Given the description of an element on the screen output the (x, y) to click on. 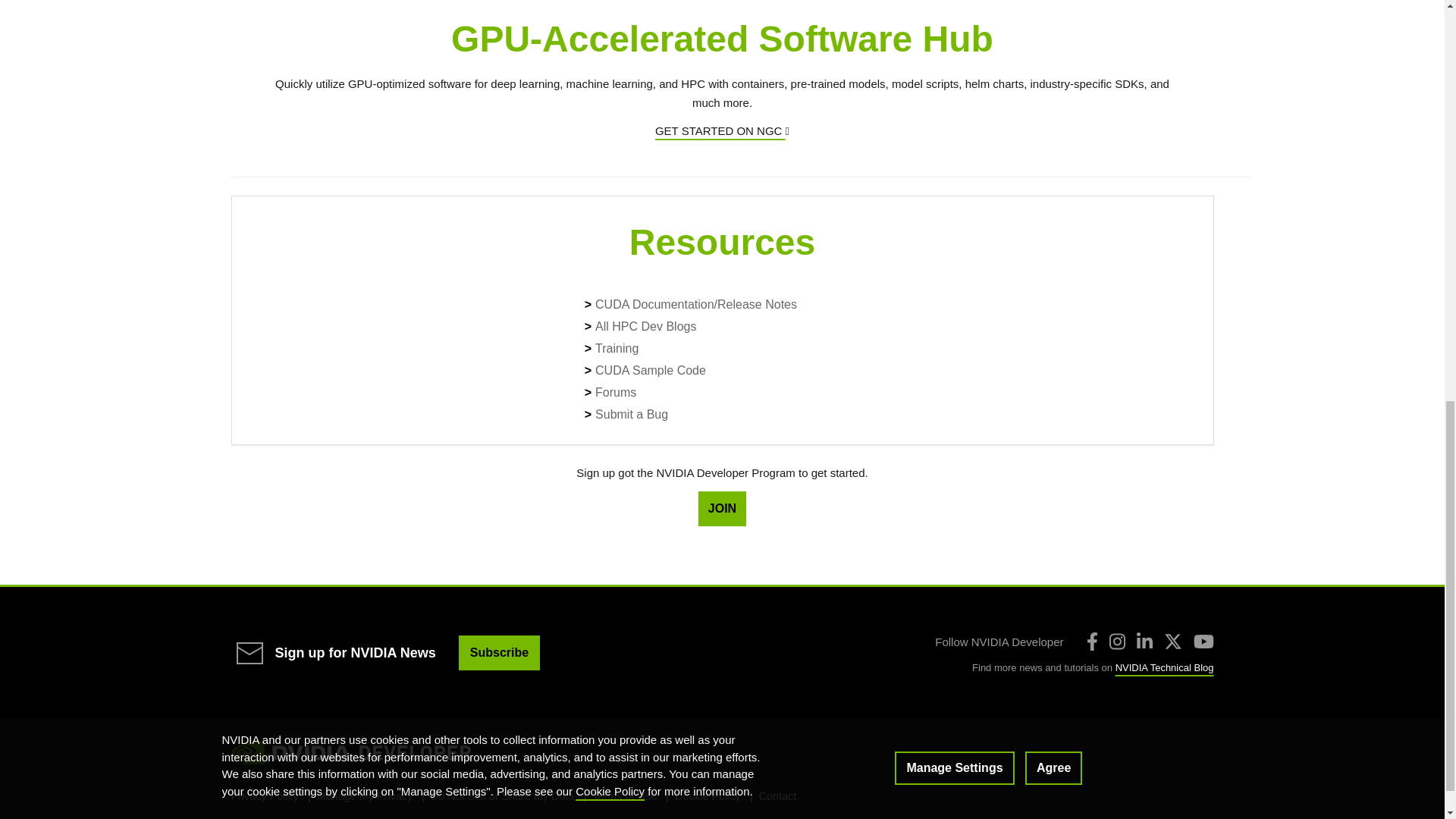
LinkedIn (1143, 641)
Instagram (1116, 641)
YouTube (1203, 641)
Twitter (1171, 641)
Facebook (1091, 641)
